Given the description of an element on the screen output the (x, y) to click on. 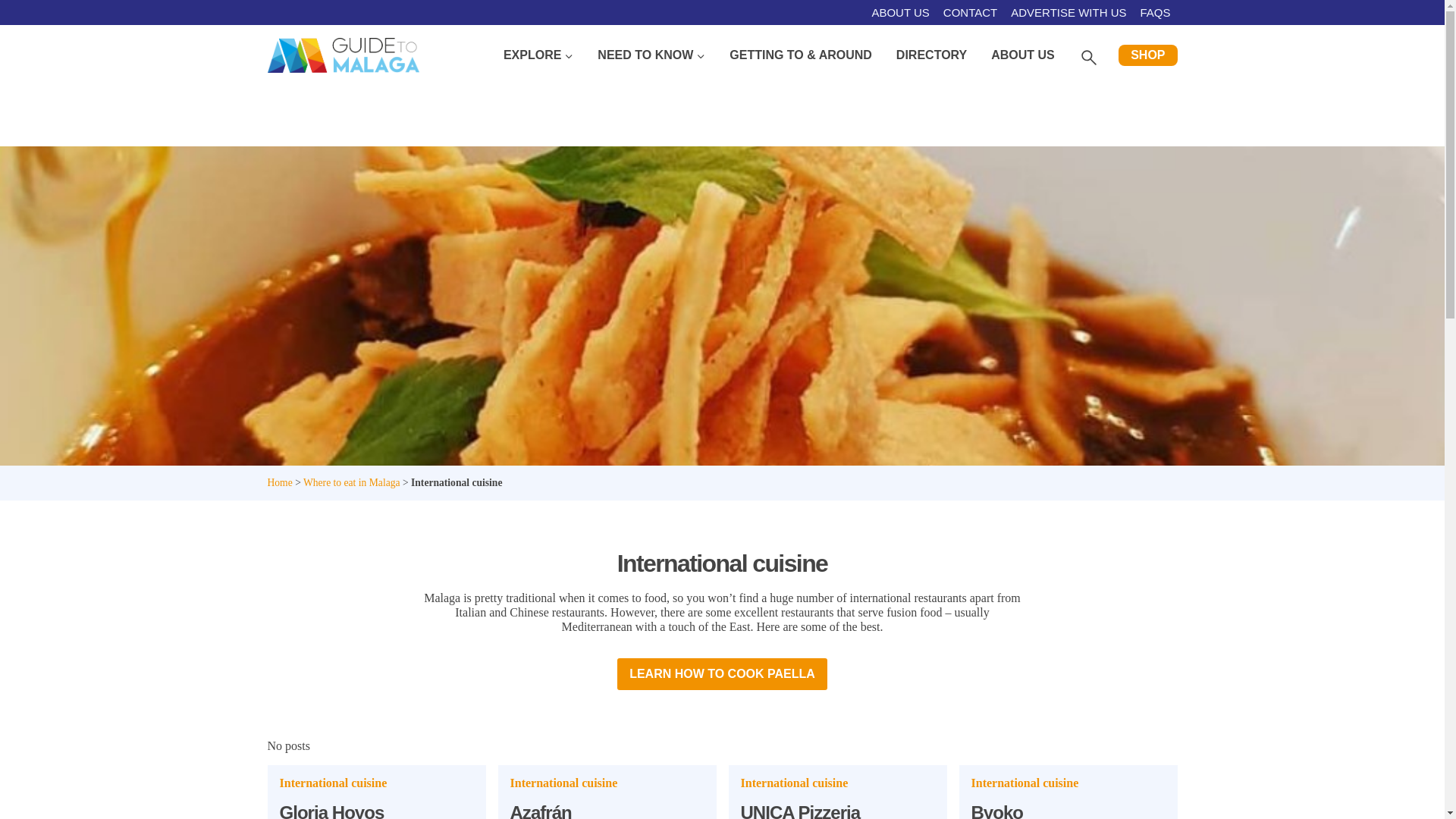
EXPLORE (538, 55)
ADVERTISE WITH US (1068, 12)
FAQS (1154, 12)
CONTACT (970, 12)
ABOUT US (900, 12)
